Given the description of an element on the screen output the (x, y) to click on. 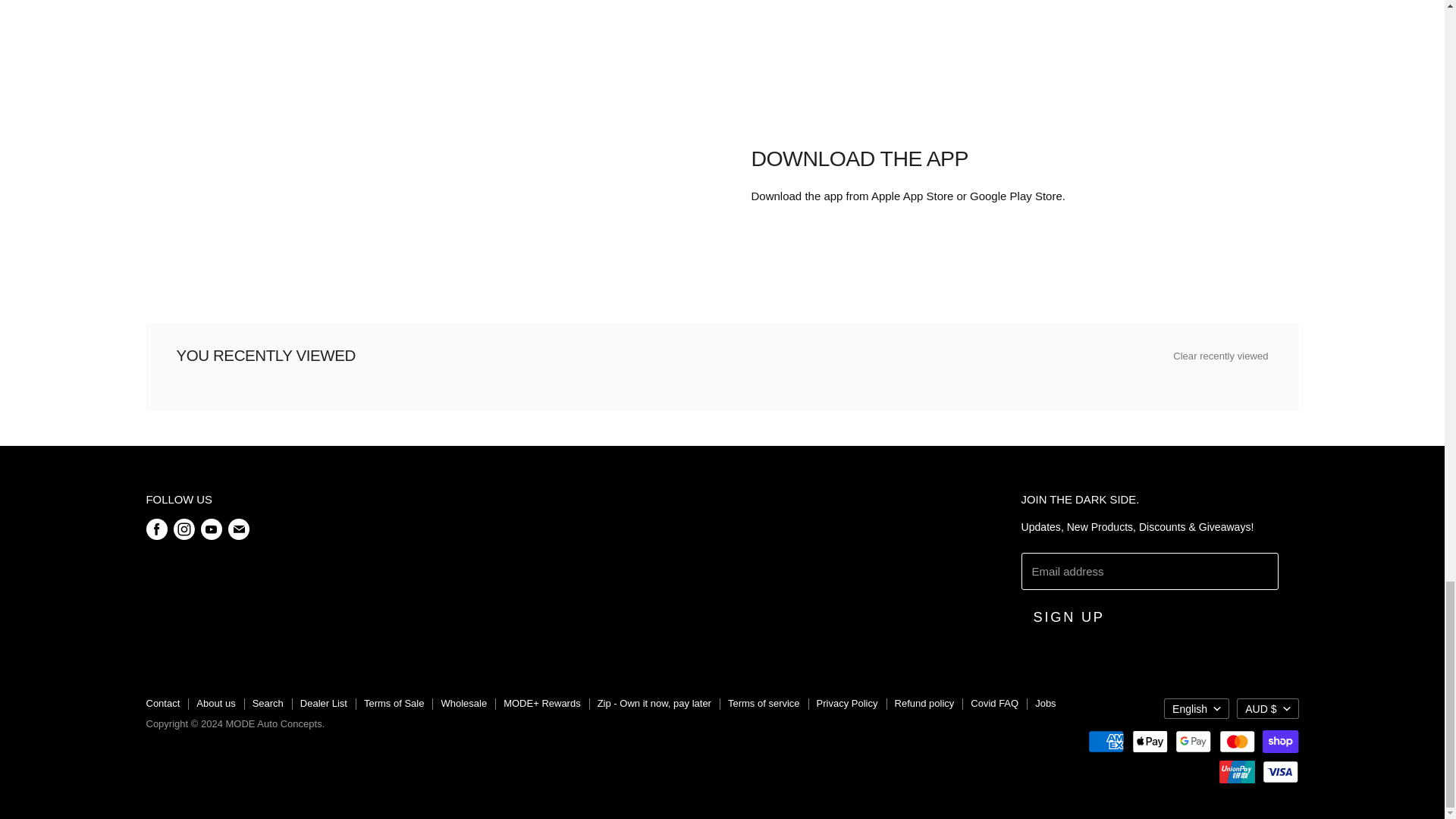
Facebook (156, 528)
E-mail (237, 528)
Instagram (183, 528)
Youtube (210, 528)
